Given the description of an element on the screen output the (x, y) to click on. 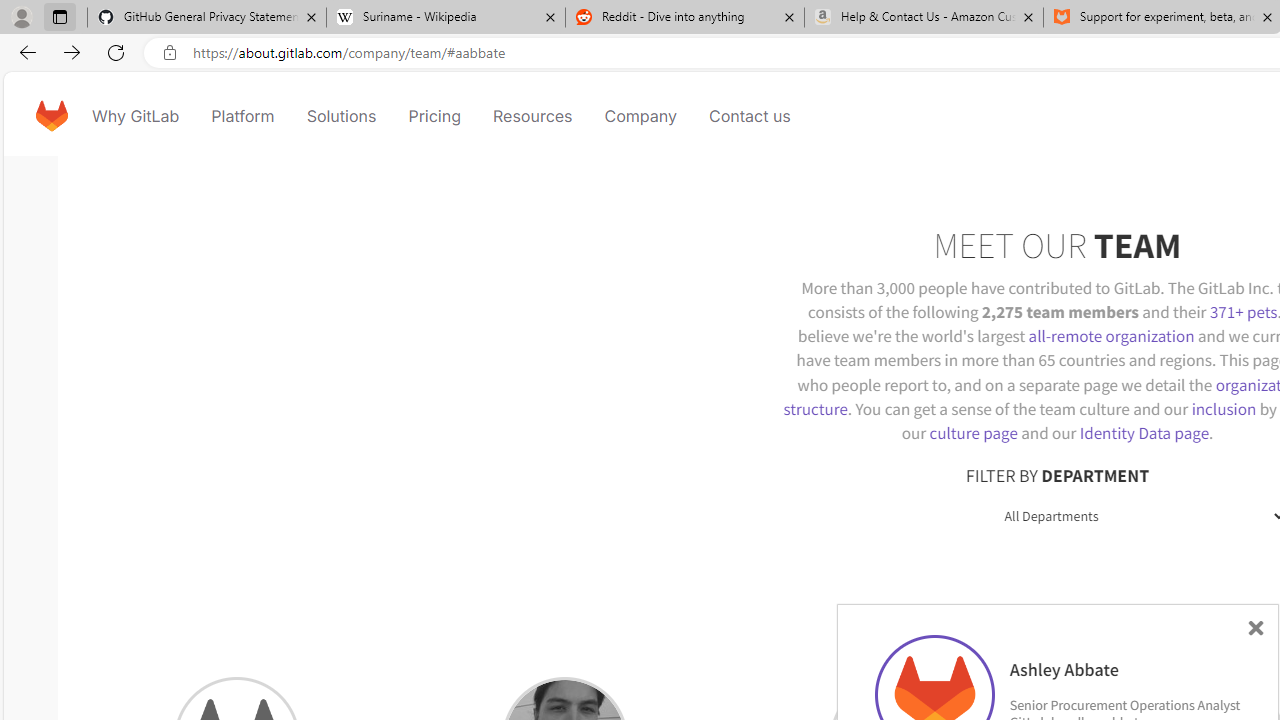
Solutions (341, 115)
Identity Data page (1144, 432)
Help & Contact Us - Amazon Customer Service - Sleeping (924, 17)
Why GitLab (136, 115)
inclusion (1223, 408)
Resources (532, 115)
Platform (242, 115)
Solutions (341, 115)
all-remote organization (1111, 335)
Suriname - Wikipedia (445, 17)
